Given the description of an element on the screen output the (x, y) to click on. 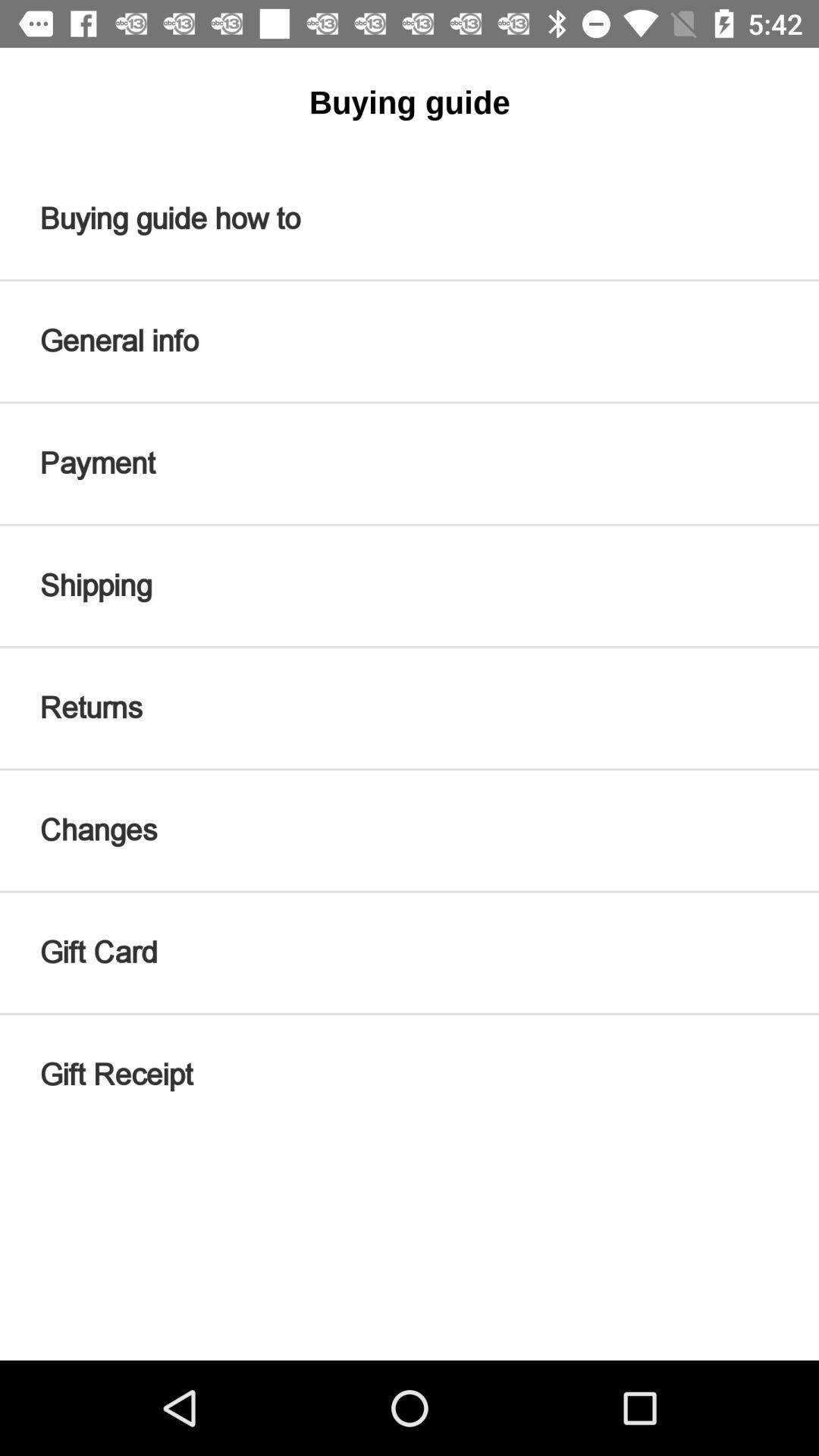
choose the item below the shipping (409, 708)
